Given the description of an element on the screen output the (x, y) to click on. 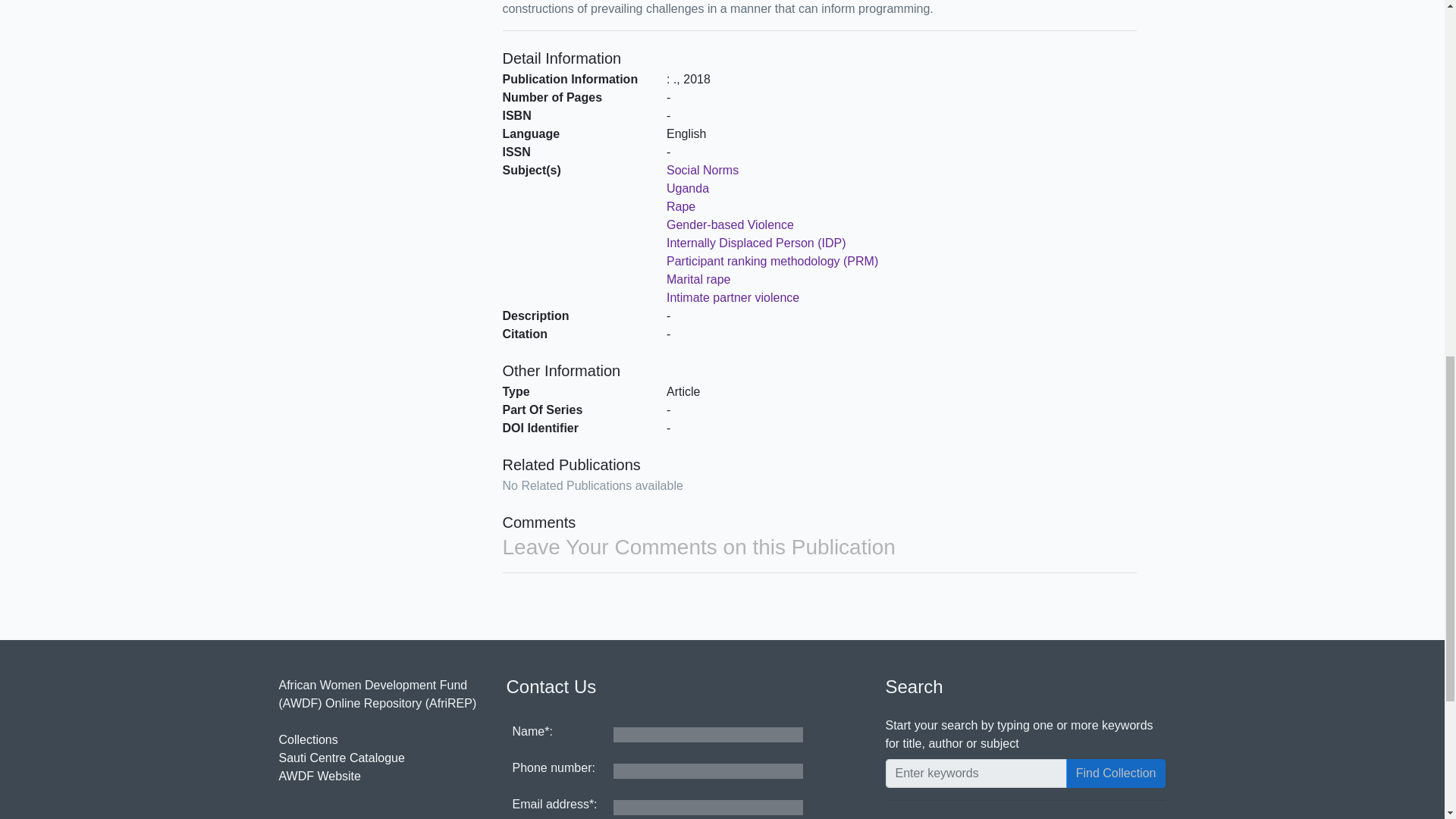
Click to view others documents with this subject (698, 278)
Click to view others documents with this subject (680, 205)
Click to view others documents with this subject (729, 224)
Click to view others documents with this subject (732, 297)
Click to view others documents with this subject (702, 169)
Click to view others documents with this subject (687, 187)
Click to view others documents with this subject (755, 242)
Click to view others documents with this subject (771, 260)
